Given the description of an element on the screen output the (x, y) to click on. 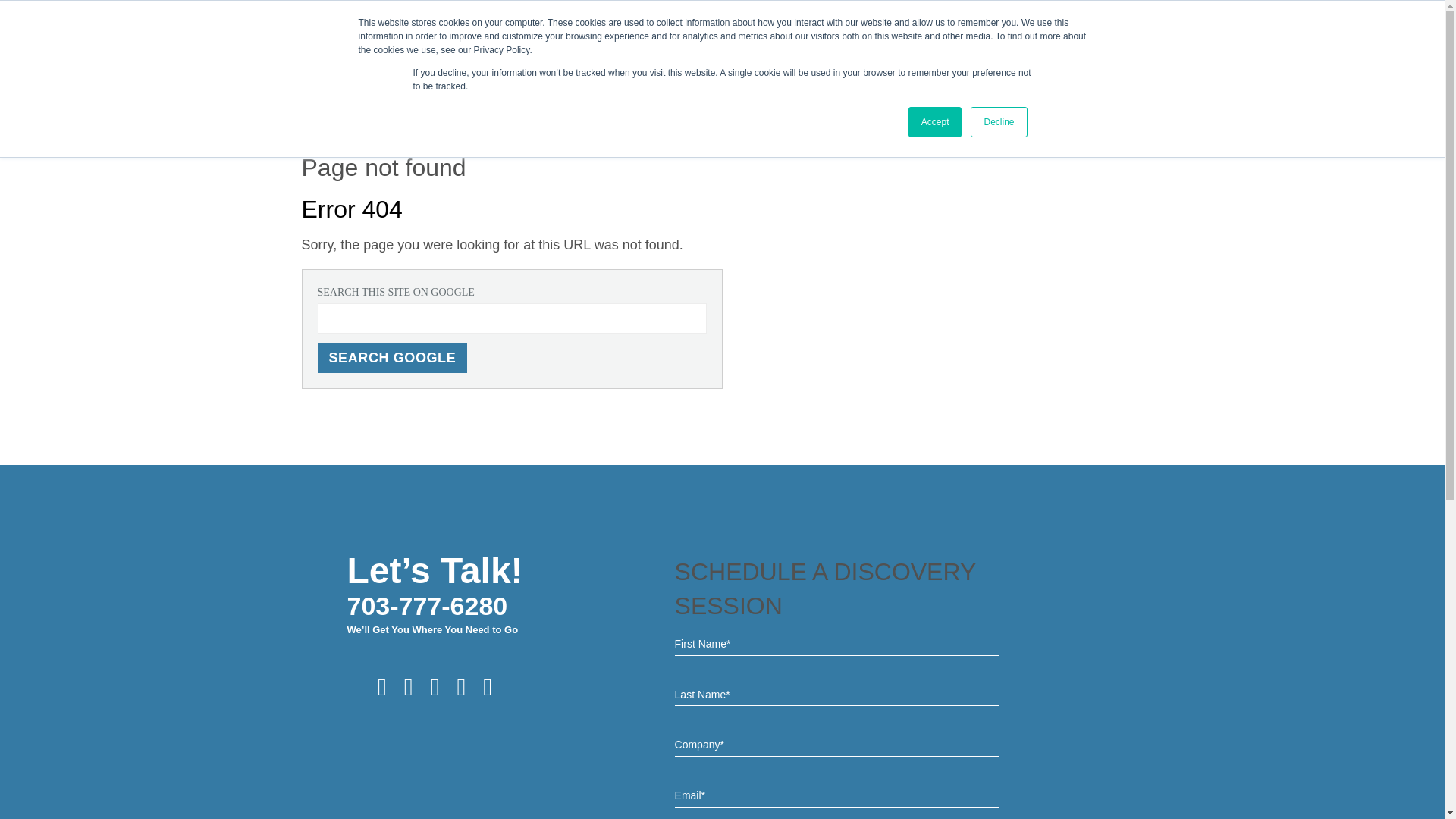
WHO WE ARE (663, 61)
WHO WE'RE FOR (844, 61)
SEARCH GOOGLE (392, 358)
BLOG (1087, 61)
Accept (935, 122)
HOW WE DO IT (942, 61)
OUR WORK (1027, 61)
WHAT WE DO (751, 61)
Decline (998, 122)
